Given the description of an element on the screen output the (x, y) to click on. 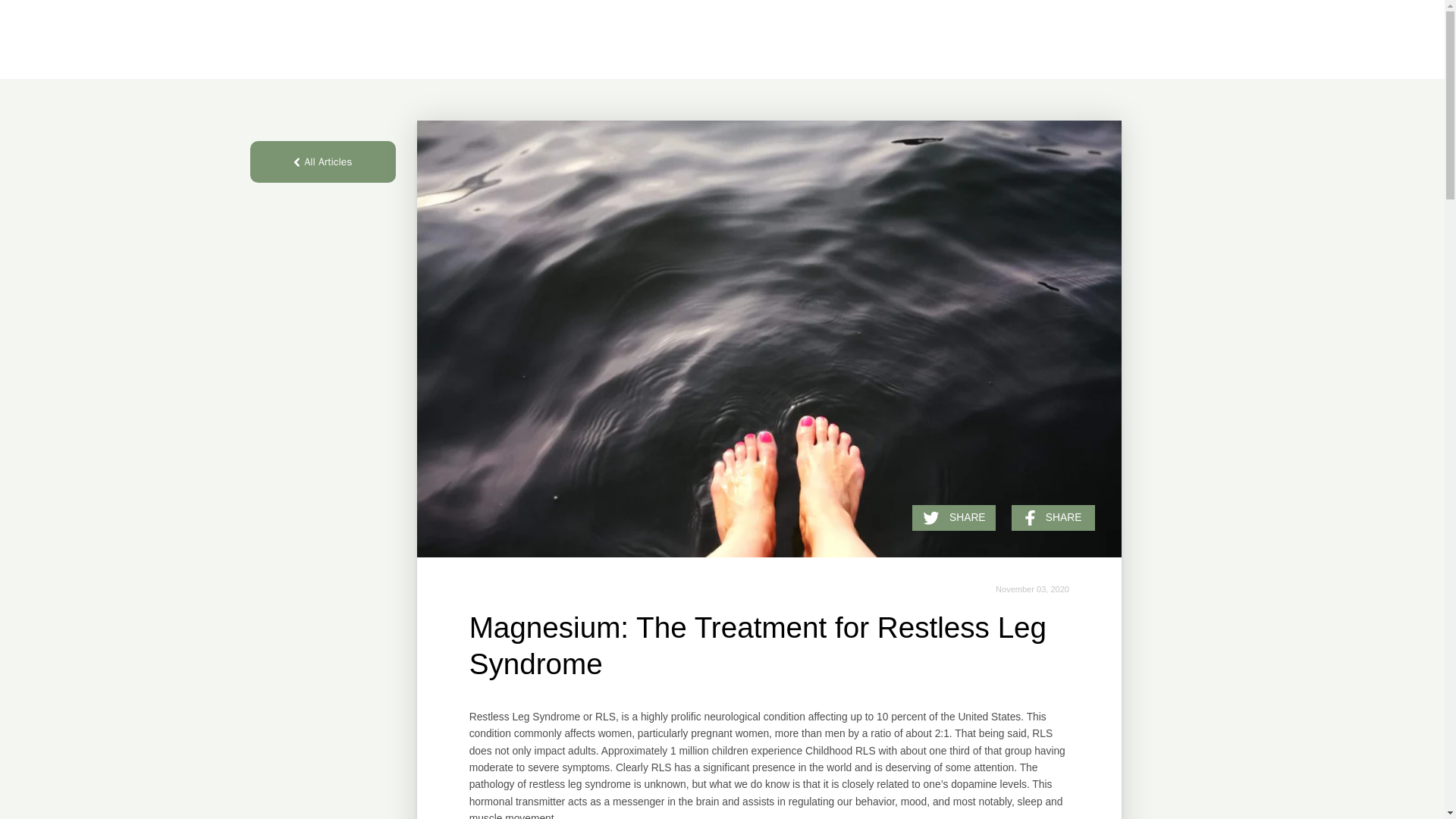
SHARE (1052, 517)
SHARE (953, 517)
